Given the description of an element on the screen output the (x, y) to click on. 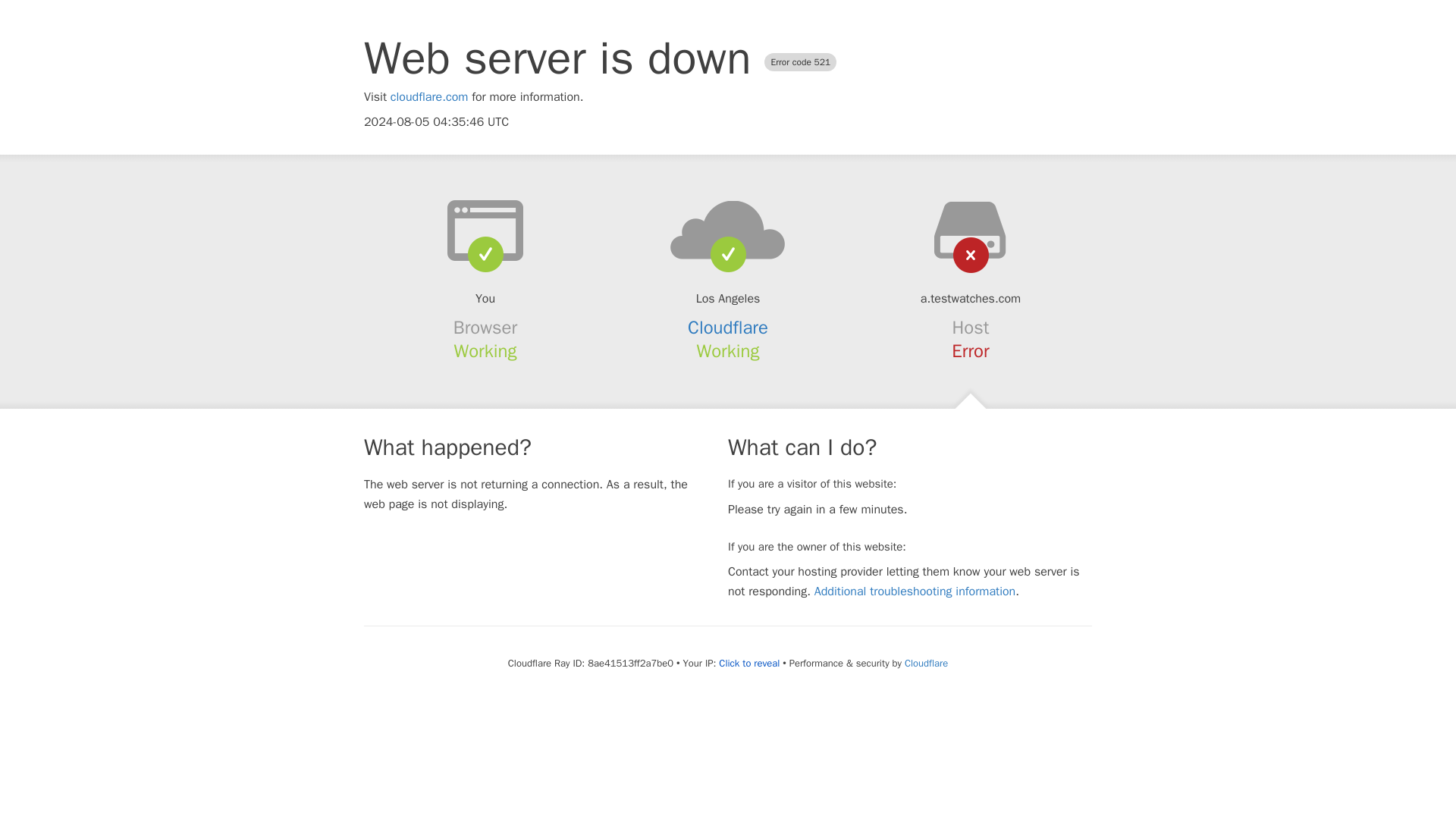
Additional troubleshooting information (913, 590)
Cloudflare (727, 327)
Click to reveal (748, 663)
cloudflare.com (429, 96)
Cloudflare (925, 662)
